Given the description of an element on the screen output the (x, y) to click on. 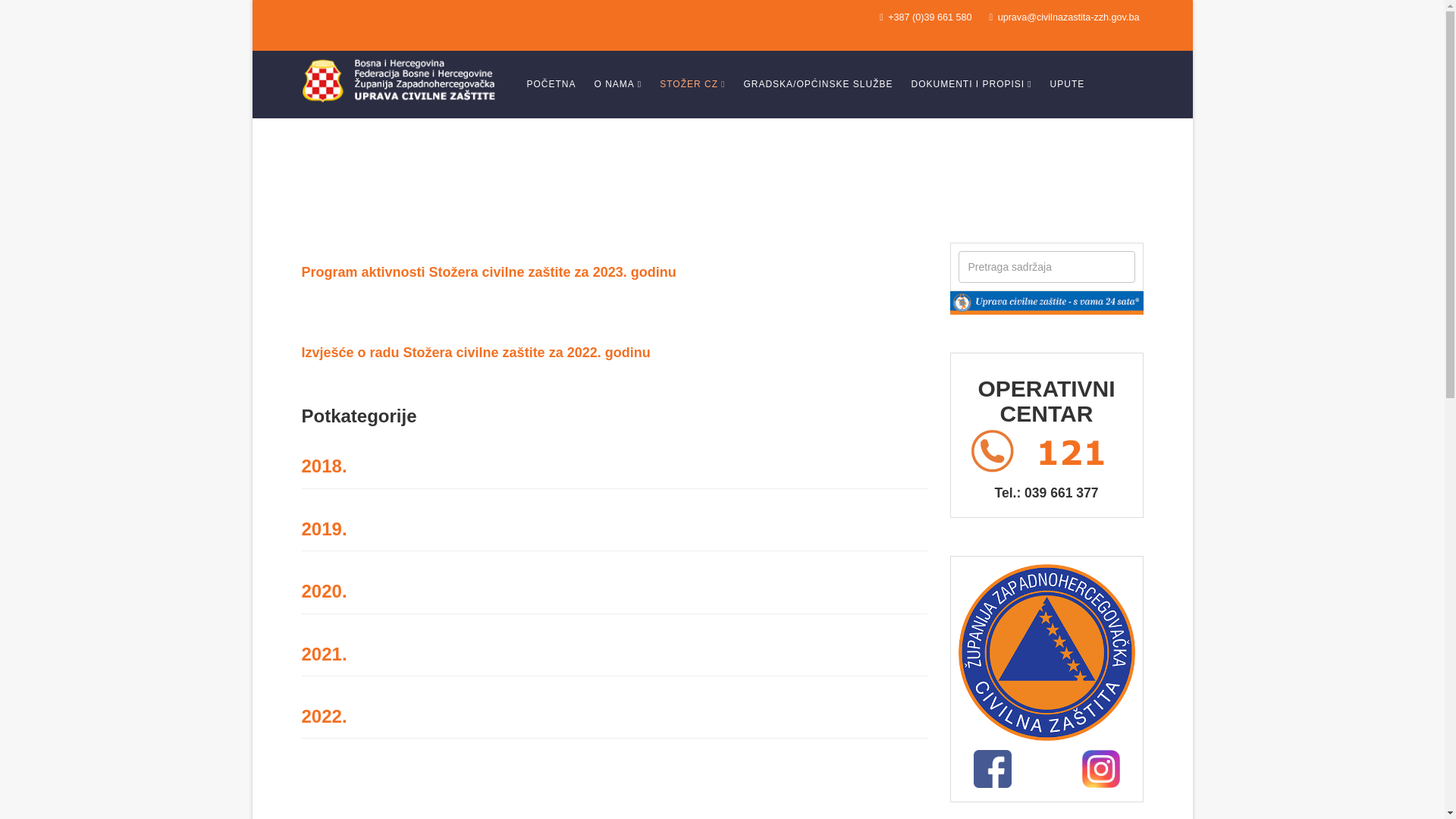
UPUTE Element type: text (1067, 84)
2018. Element type: text (324, 465)
2021. Element type: text (324, 653)
DOKUMENTI I PROPISI Element type: text (970, 84)
2019. Element type: text (324, 528)
+387 (0)39 661 580 Element type: text (929, 17)
O NAMA Element type: text (618, 84)
uprava@civilnazastita-zzh.gov.ba Element type: text (1068, 17)
2022. Element type: text (324, 716)
KONTAKT Element type: text (550, 151)
2020. Element type: text (324, 590)
